Given the description of an element on the screen output the (x, y) to click on. 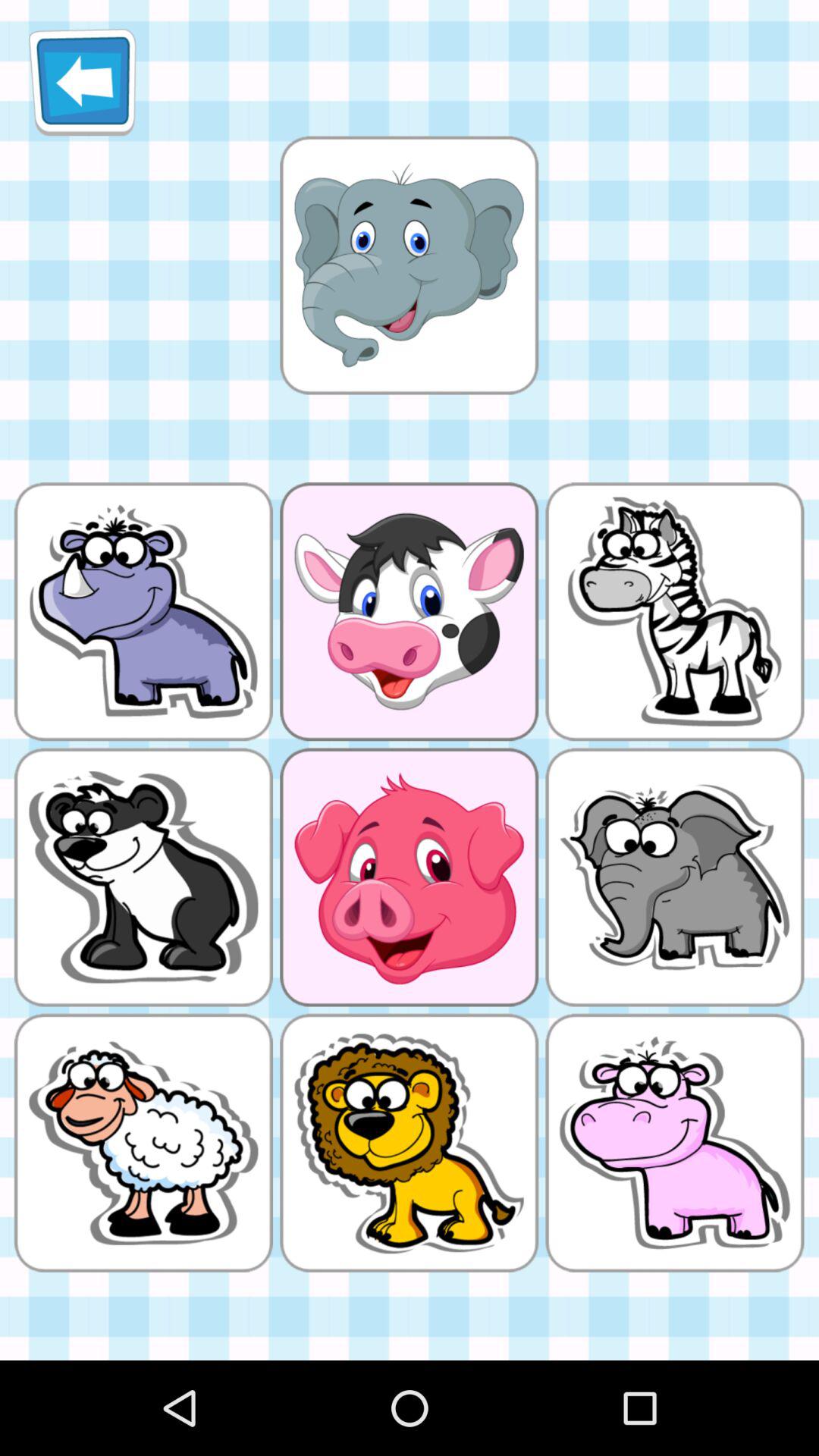
game (409, 265)
